Given the description of an element on the screen output the (x, y) to click on. 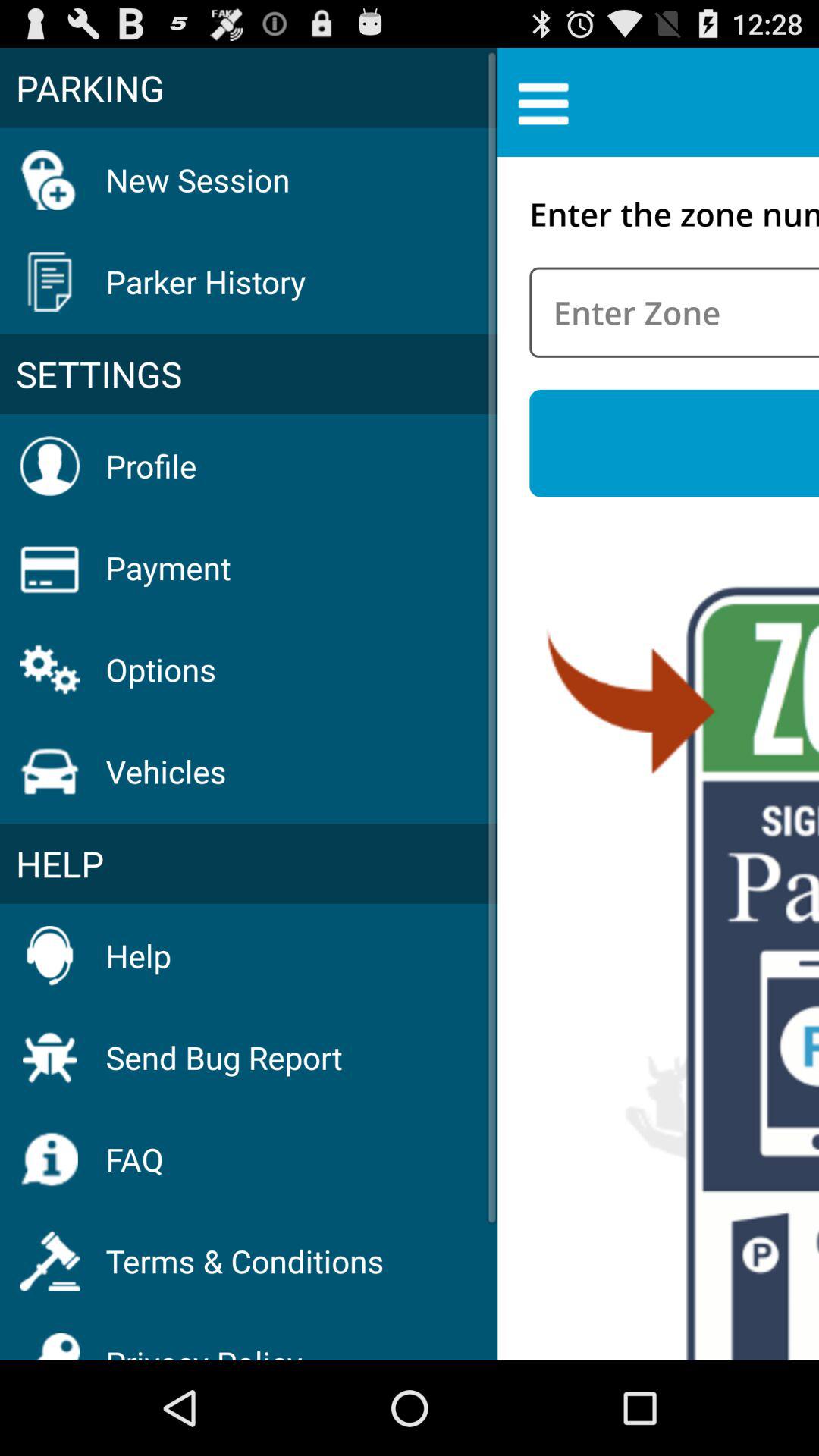
open the vehicles item (165, 770)
